Given the description of an element on the screen output the (x, y) to click on. 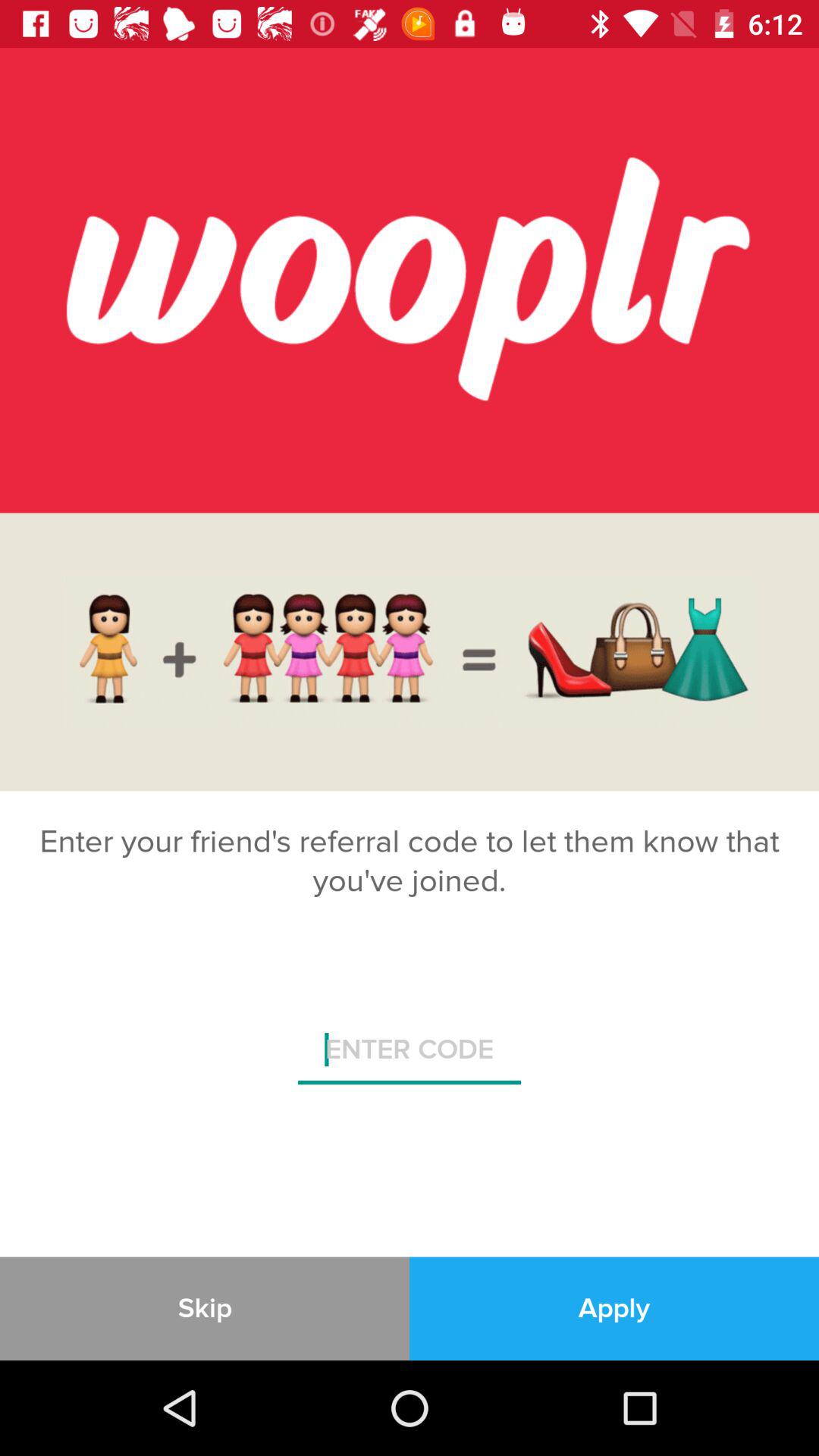
swipe until the skip item (204, 1308)
